Given the description of an element on the screen output the (x, y) to click on. 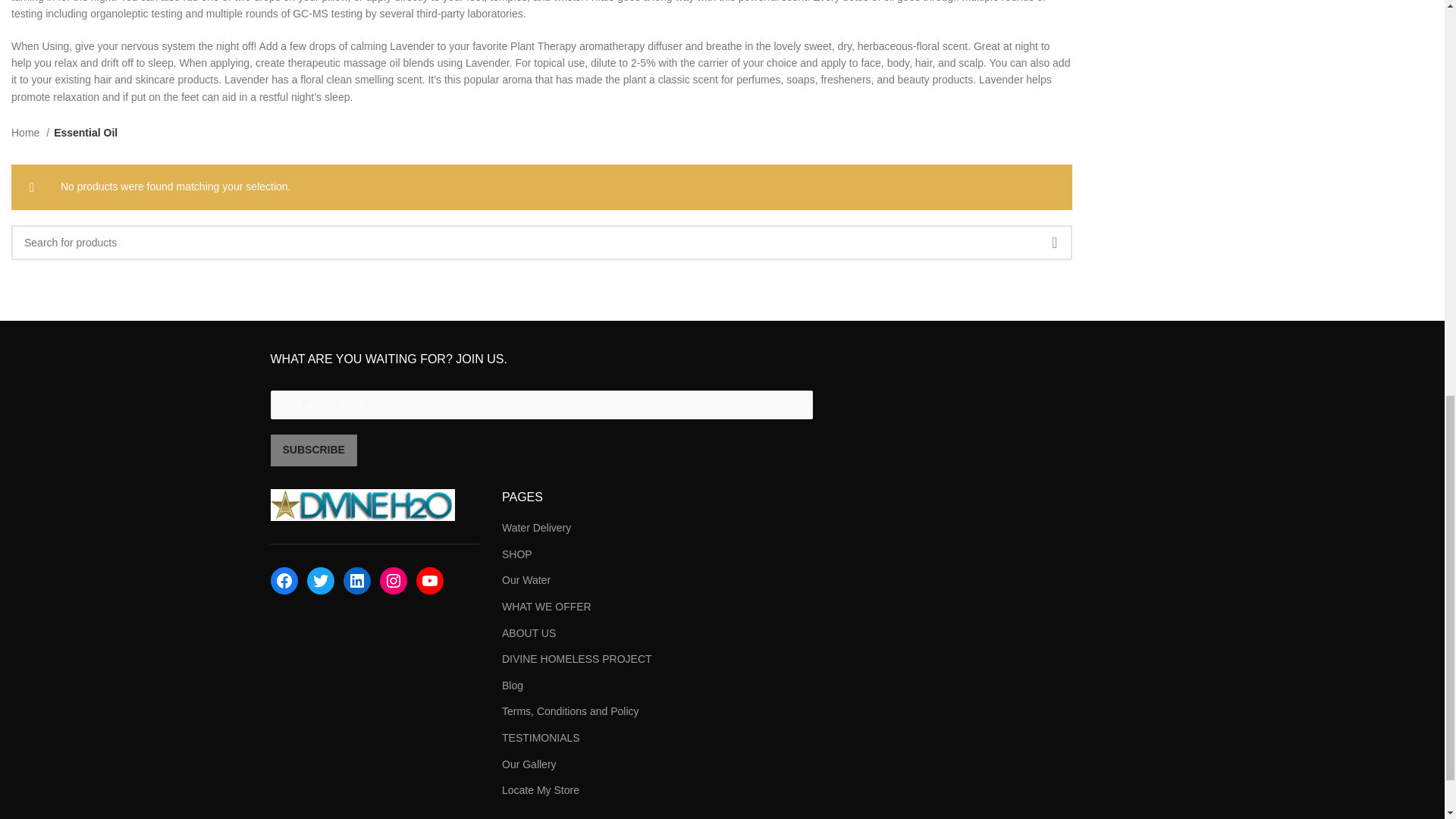
Search for products (541, 241)
Home (30, 132)
SEARCH (1053, 241)
SUBSCRIBE (312, 450)
